Given the description of an element on the screen output the (x, y) to click on. 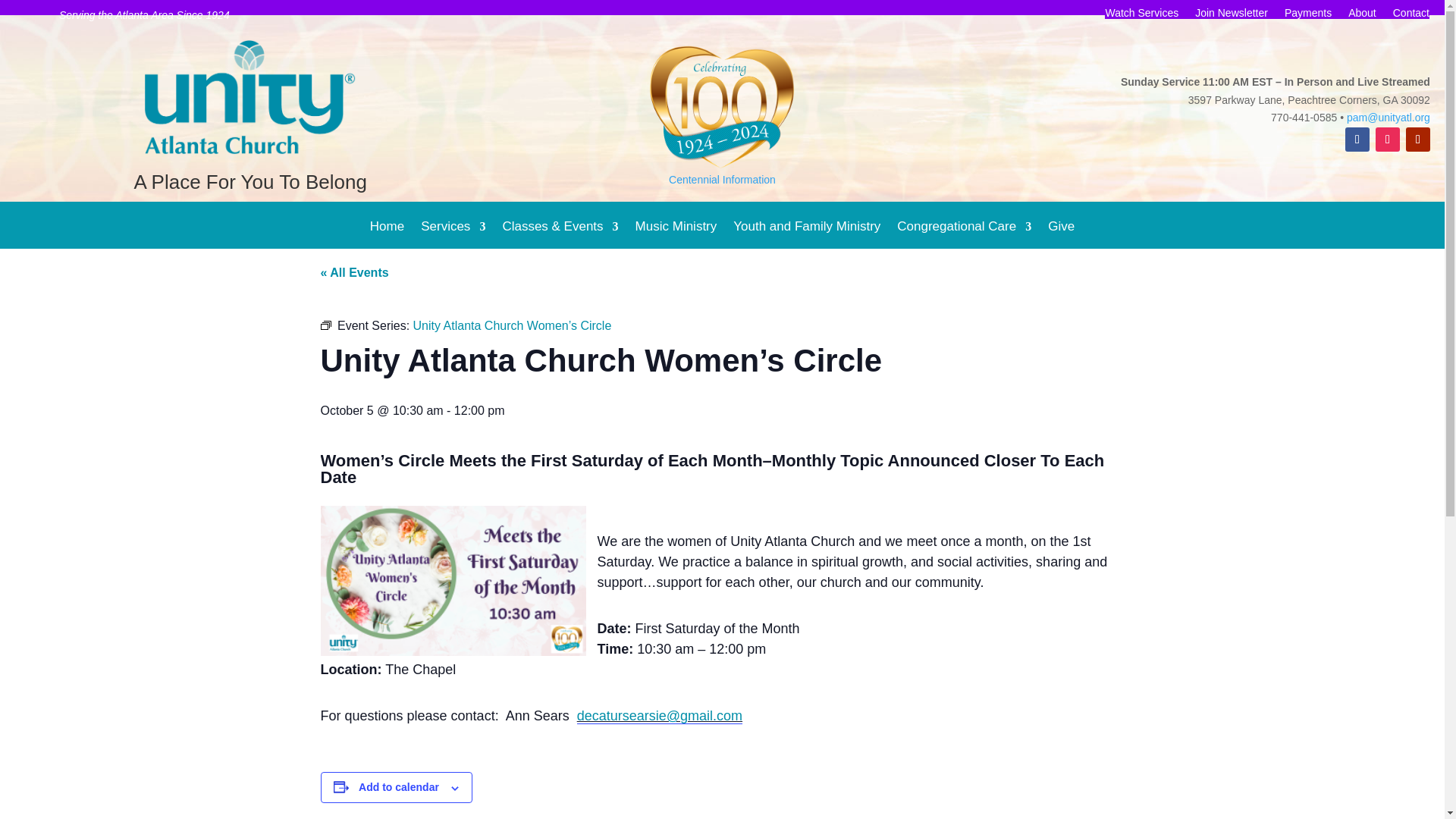
Youth and Family Ministry (806, 237)
Services (452, 237)
Centennial Information (722, 179)
Give (1061, 237)
Congregational Care (963, 237)
Follow on Facebook (1357, 139)
Follow on Instagram (1387, 139)
Contact (1411, 15)
Watch Services (1141, 15)
Event Series: (325, 325)
Home (386, 237)
Unity-100 (721, 106)
Payments (1308, 15)
About (1361, 15)
Join Newsletter (1231, 15)
